Given the description of an element on the screen output the (x, y) to click on. 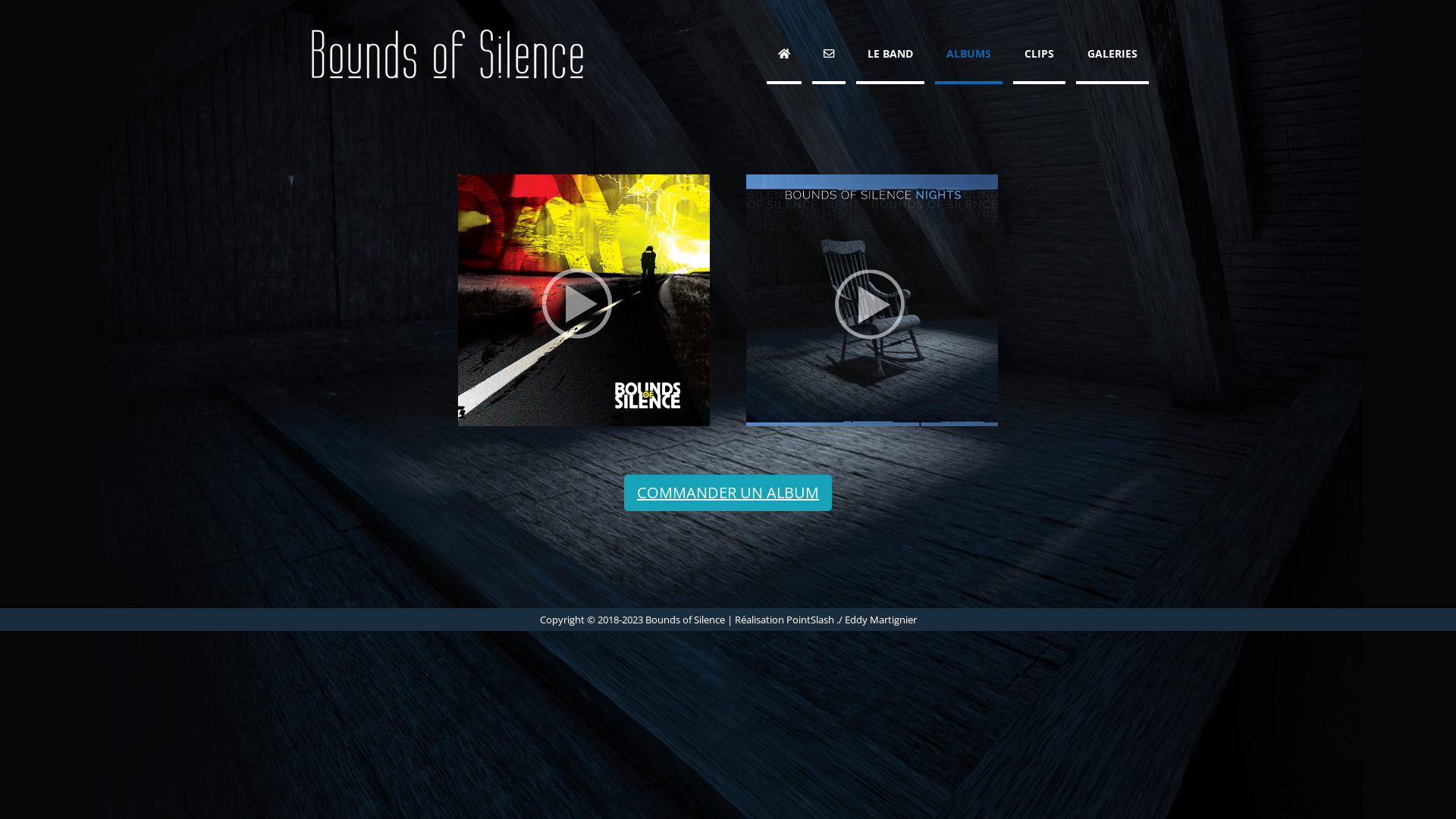
LE BAND Element type: text (890, 55)
ALBUMS Element type: text (968, 55)
GALERIES Element type: text (1112, 55)
COMMANDER UN ALBUM Element type: text (727, 492)
CLIPS Element type: text (1039, 55)
Contact Element type: hover (828, 55)
Accueil Element type: hover (783, 55)
PointSlash ./ Eddy Martignier Element type: text (850, 619)
